Given the description of an element on the screen output the (x, y) to click on. 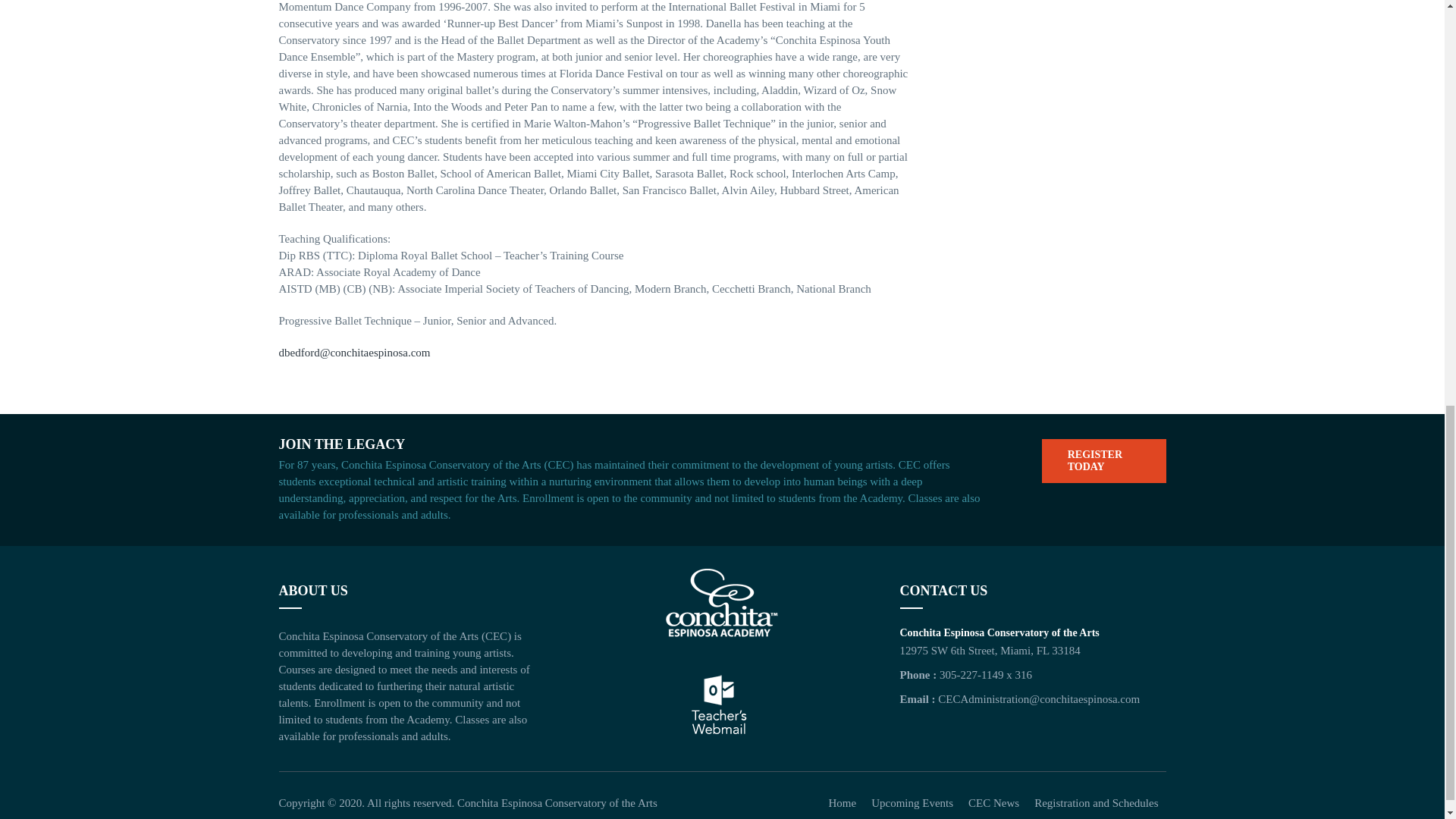
REGISTER TODAY (1104, 460)
